Given the description of an element on the screen output the (x, y) to click on. 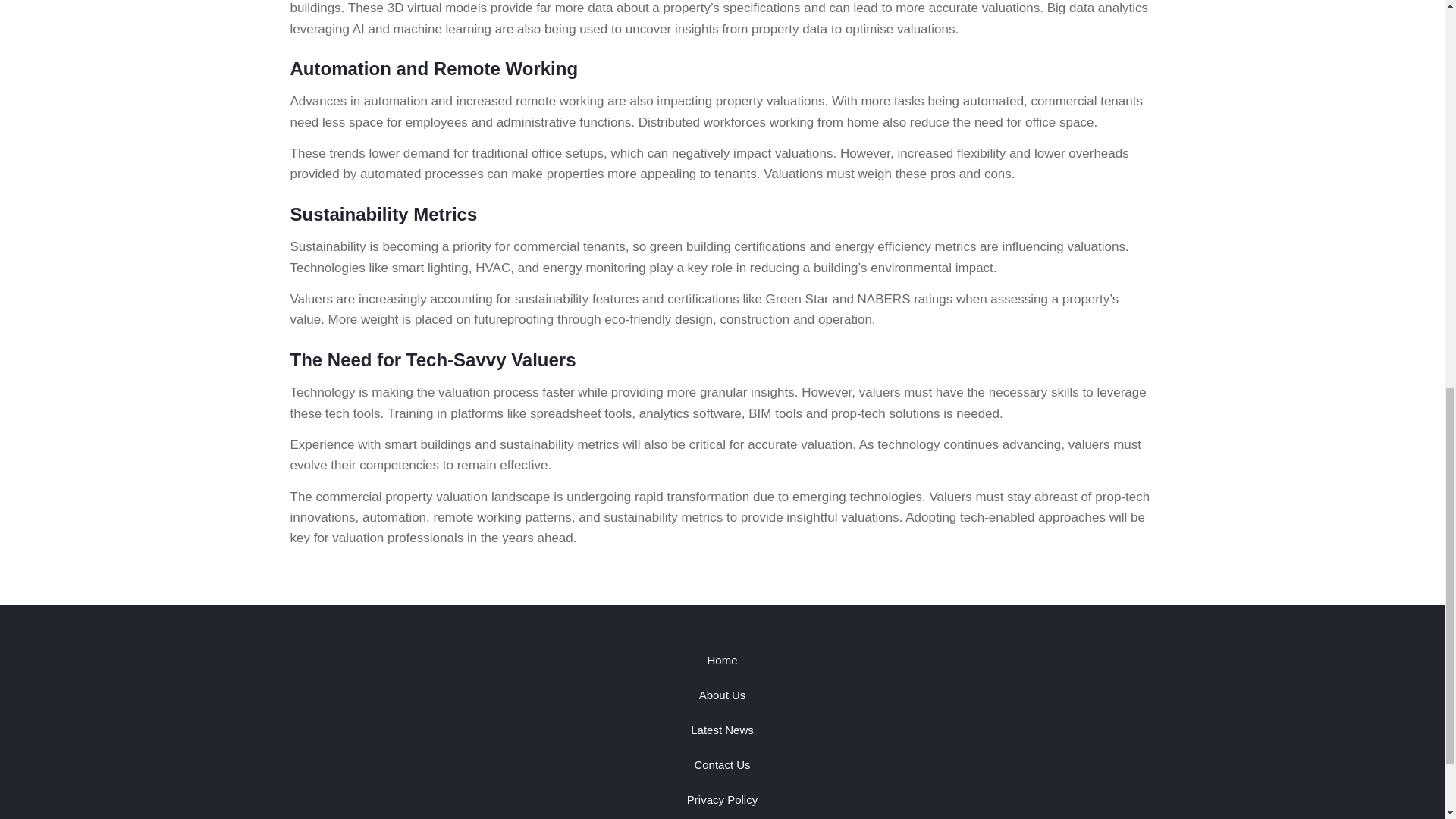
Latest News (722, 729)
Home (722, 660)
About Us (722, 695)
Privacy Policy (722, 799)
Contact Us (722, 764)
